Given the description of an element on the screen output the (x, y) to click on. 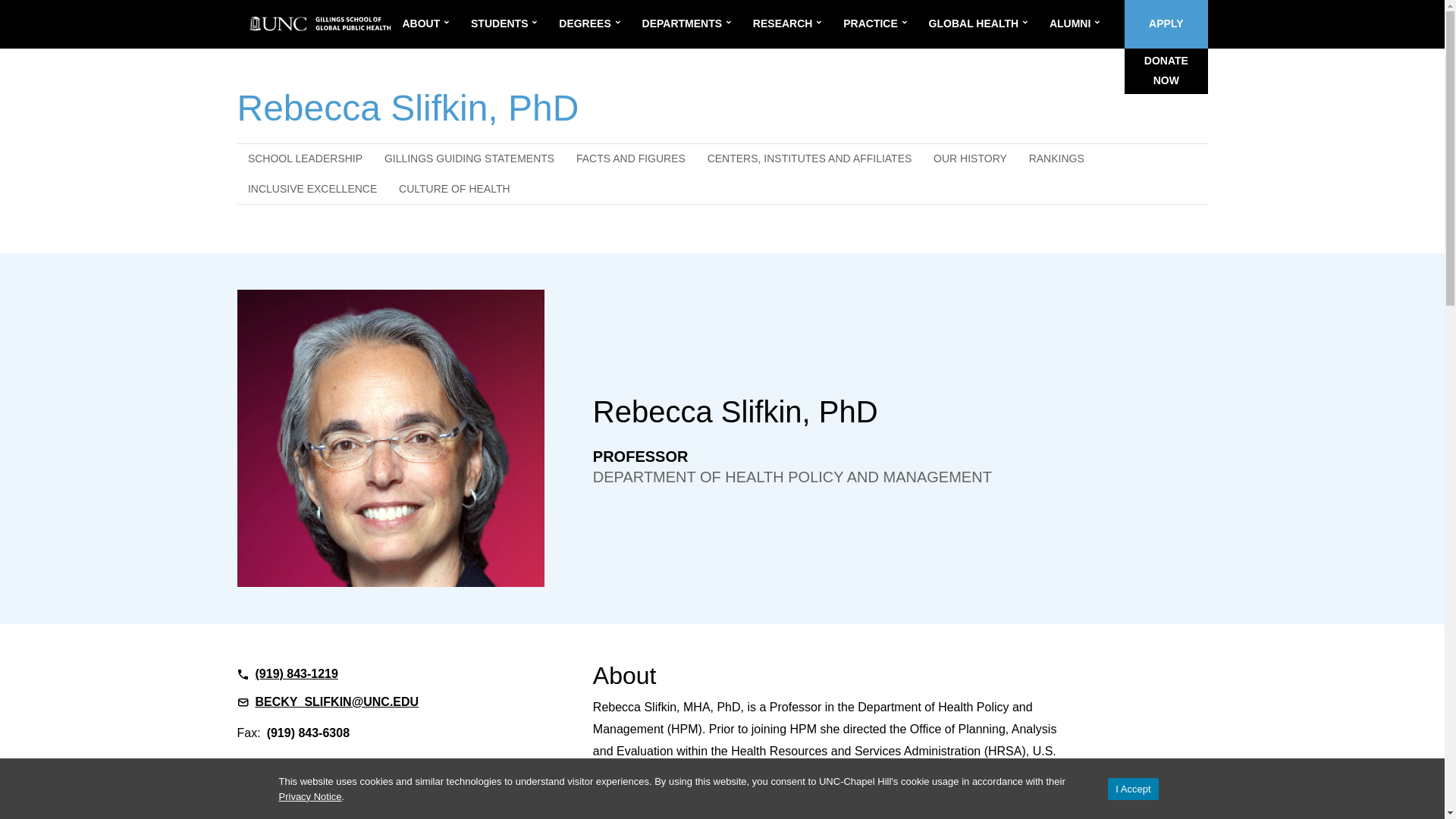
Privacy Notice (310, 795)
DEGREES (580, 23)
I Accept (1132, 789)
STUDENTS (494, 23)
DEPARTMENTS (677, 23)
ABOUT (417, 23)
